Given the description of an element on the screen output the (x, y) to click on. 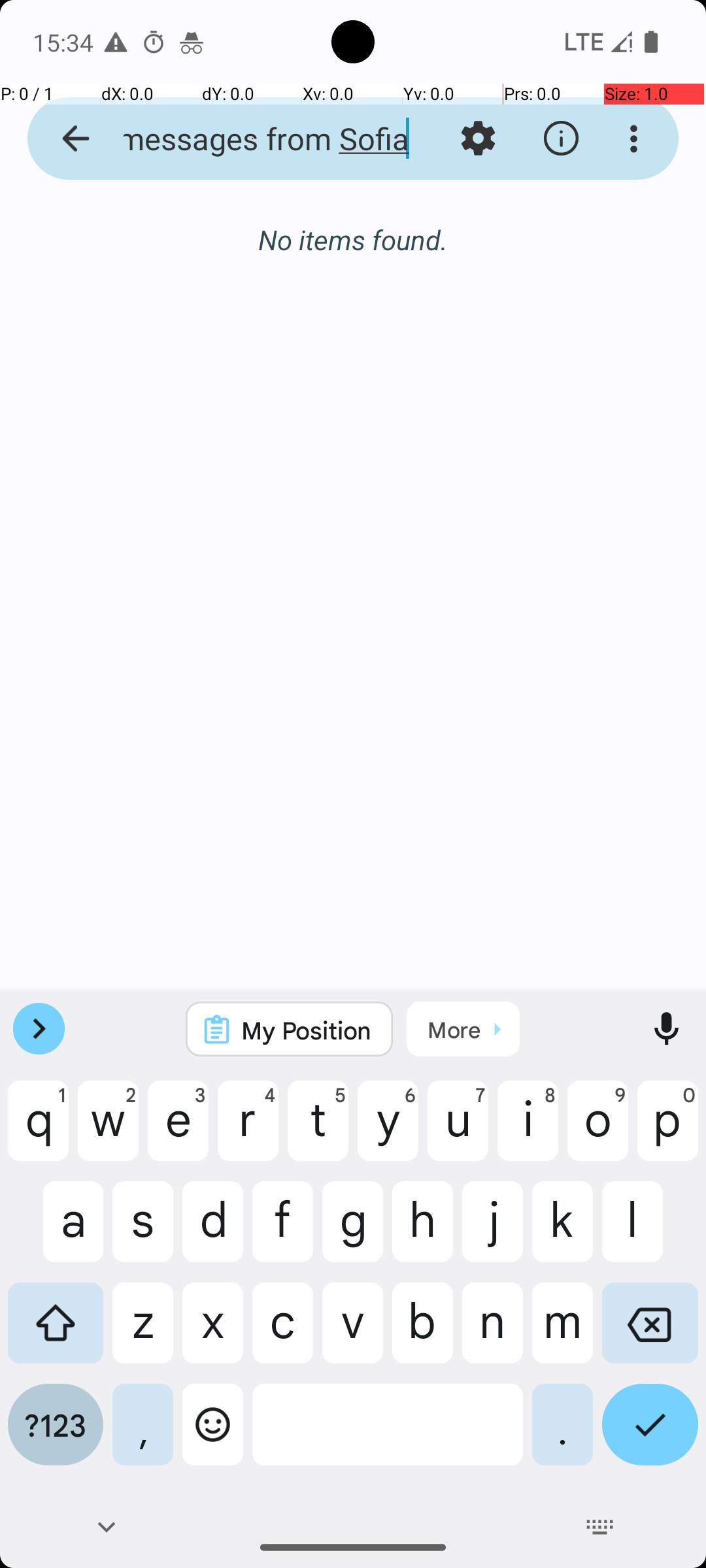
messages from Sofia Element type: android.widget.EditText (252, 138)
Sofia Muller Element type: android.widget.TextView (408, 242)
